Given the description of an element on the screen output the (x, y) to click on. 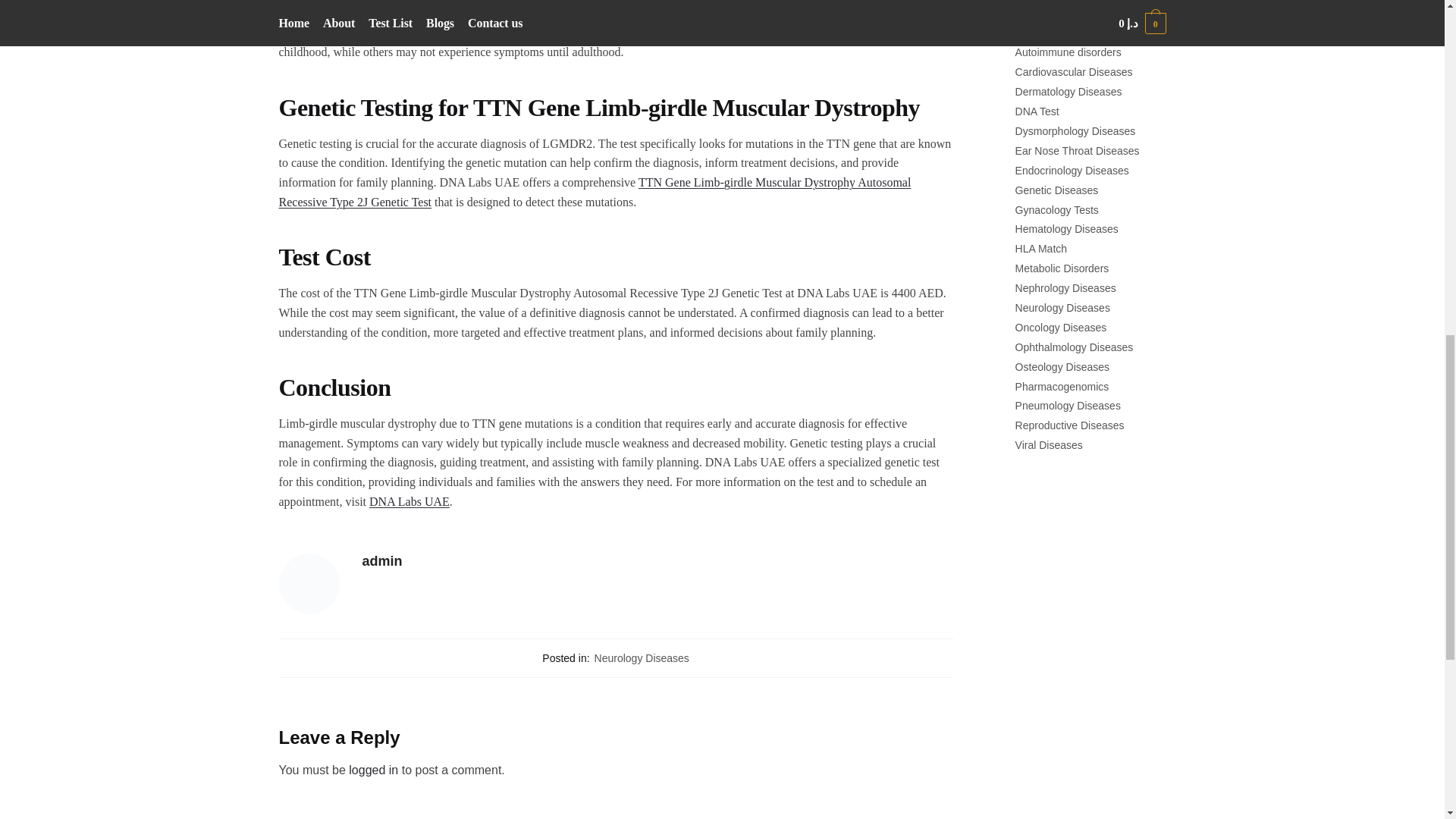
Cardiovascular Diseases (1073, 71)
admin (657, 561)
Dysmorphology Diseases (1074, 131)
logged in (373, 769)
Dermatology Diseases (1068, 91)
Autoimmune disorders (1067, 51)
Ancestry DNA Test (1058, 33)
Neurology Diseases (641, 657)
DNA Test (1036, 111)
DNA Labs UAE (409, 501)
